Given the description of an element on the screen output the (x, y) to click on. 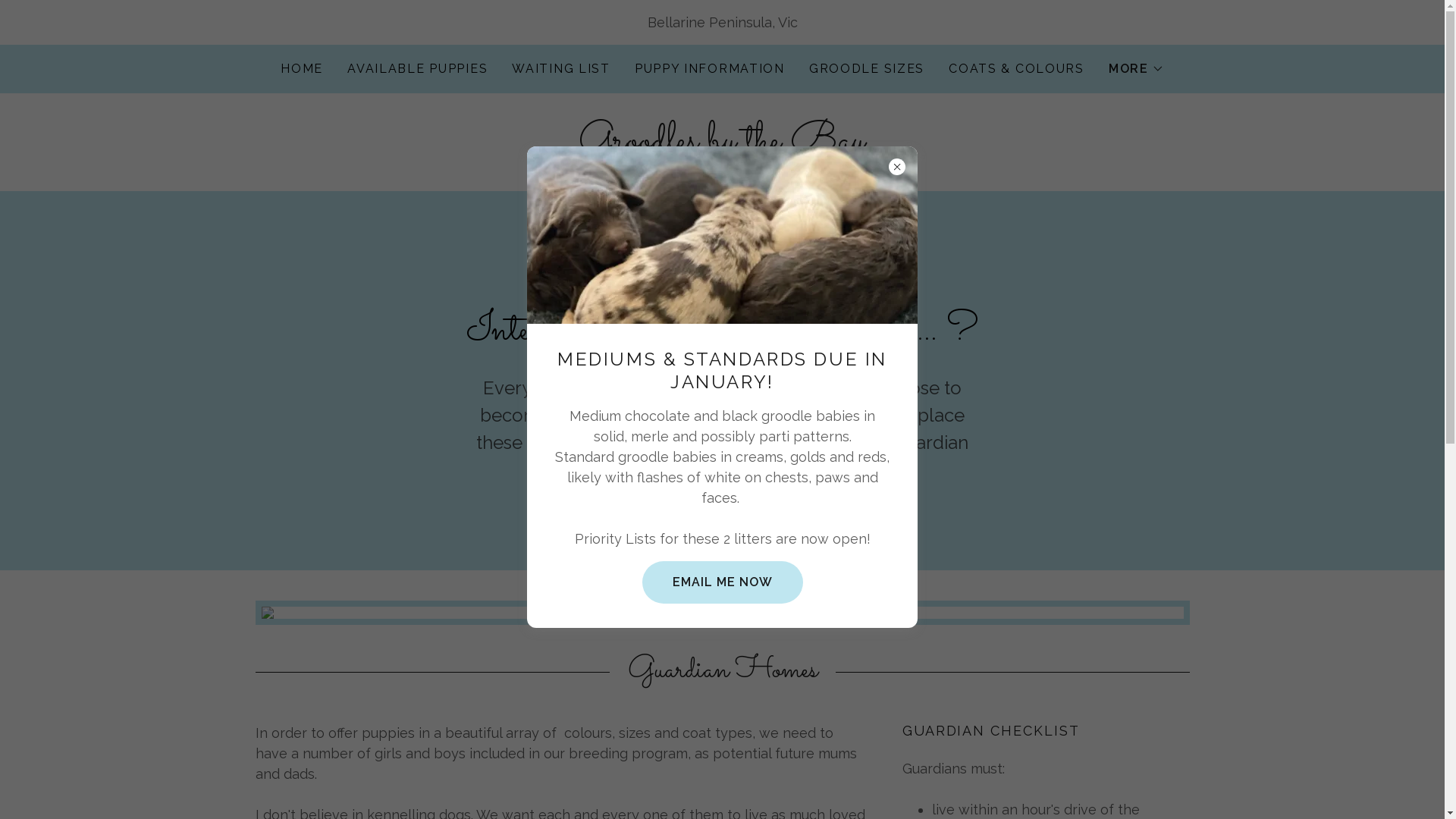
AVAILABLE PUPPIES Element type: text (417, 68)
GROODLE SIZES Element type: text (866, 68)
MORE Element type: text (1136, 68)
HOME Element type: text (301, 68)
PUPPY INFORMATION Element type: text (709, 68)
Groodles by the Bay Element type: text (721, 144)
EMAIL ME NOW Element type: text (721, 582)
COATS & COLOURS Element type: text (1016, 68)
WAITING LIST Element type: text (561, 68)
